Given the description of an element on the screen output the (x, y) to click on. 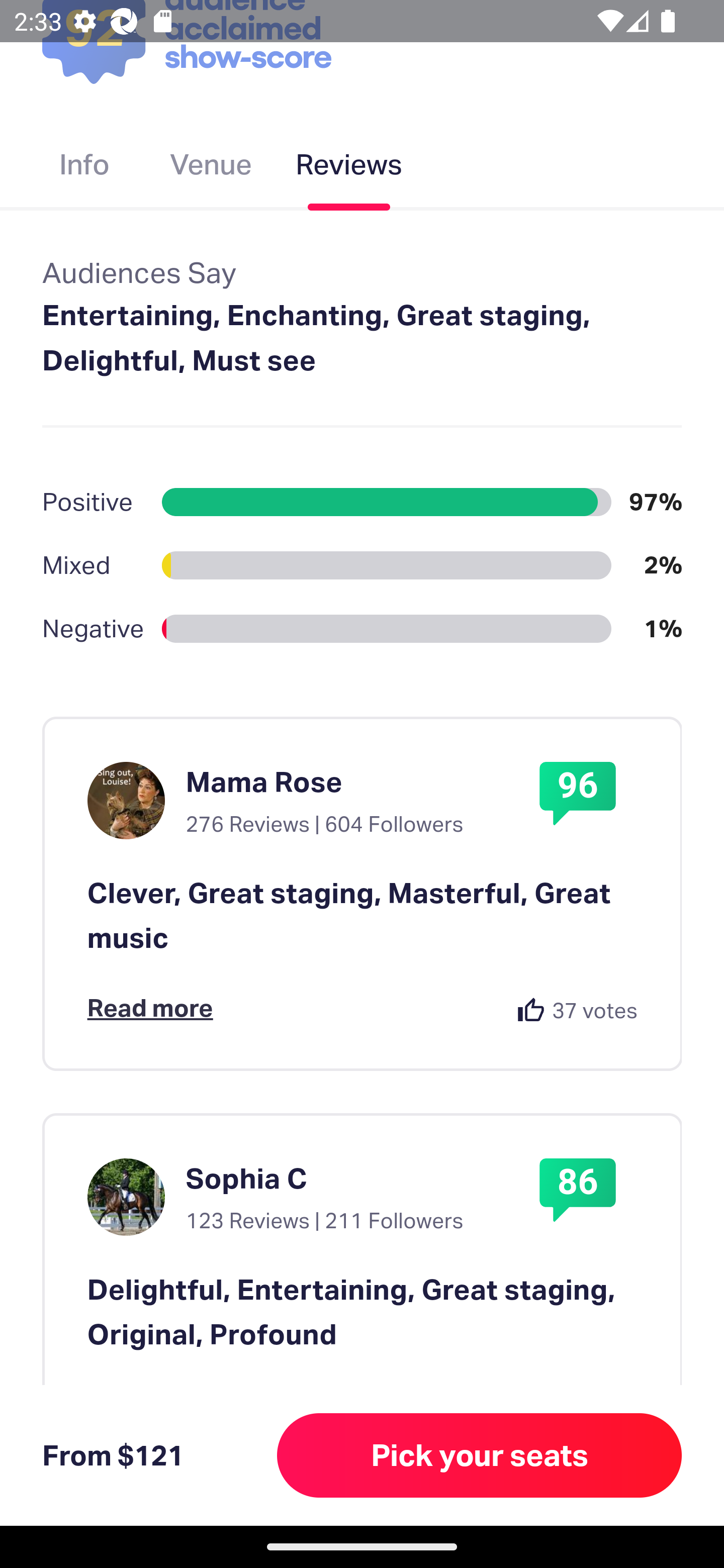
Info (83, 167)
Venue (210, 167)
Read more (150, 1007)
Pick your seats (479, 1454)
